Given the description of an element on the screen output the (x, y) to click on. 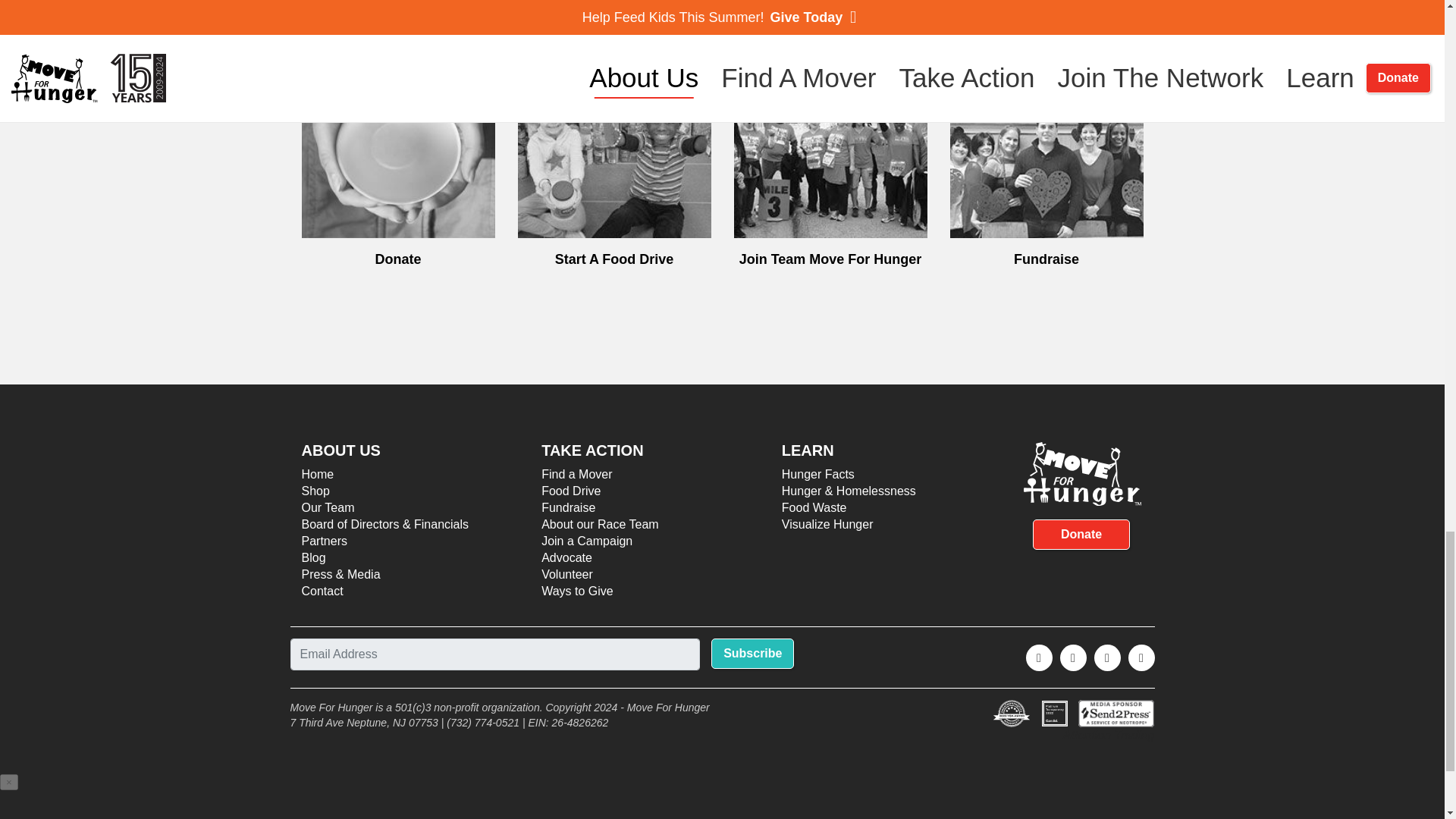
Subscribe (752, 653)
